Given the description of an element on the screen output the (x, y) to click on. 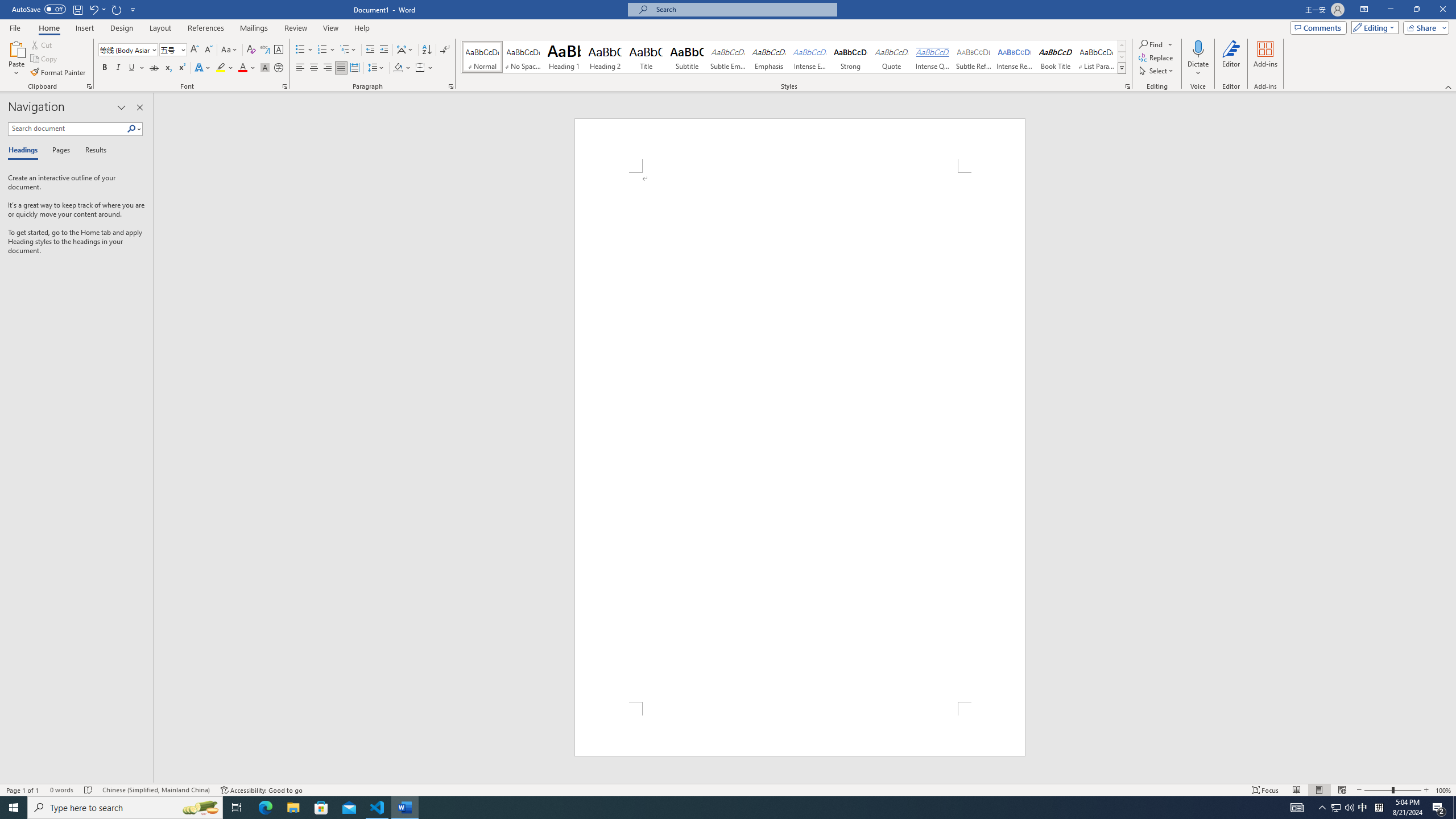
Heading 2 (605, 56)
Intense Quote (932, 56)
